Given the description of an element on the screen output the (x, y) to click on. 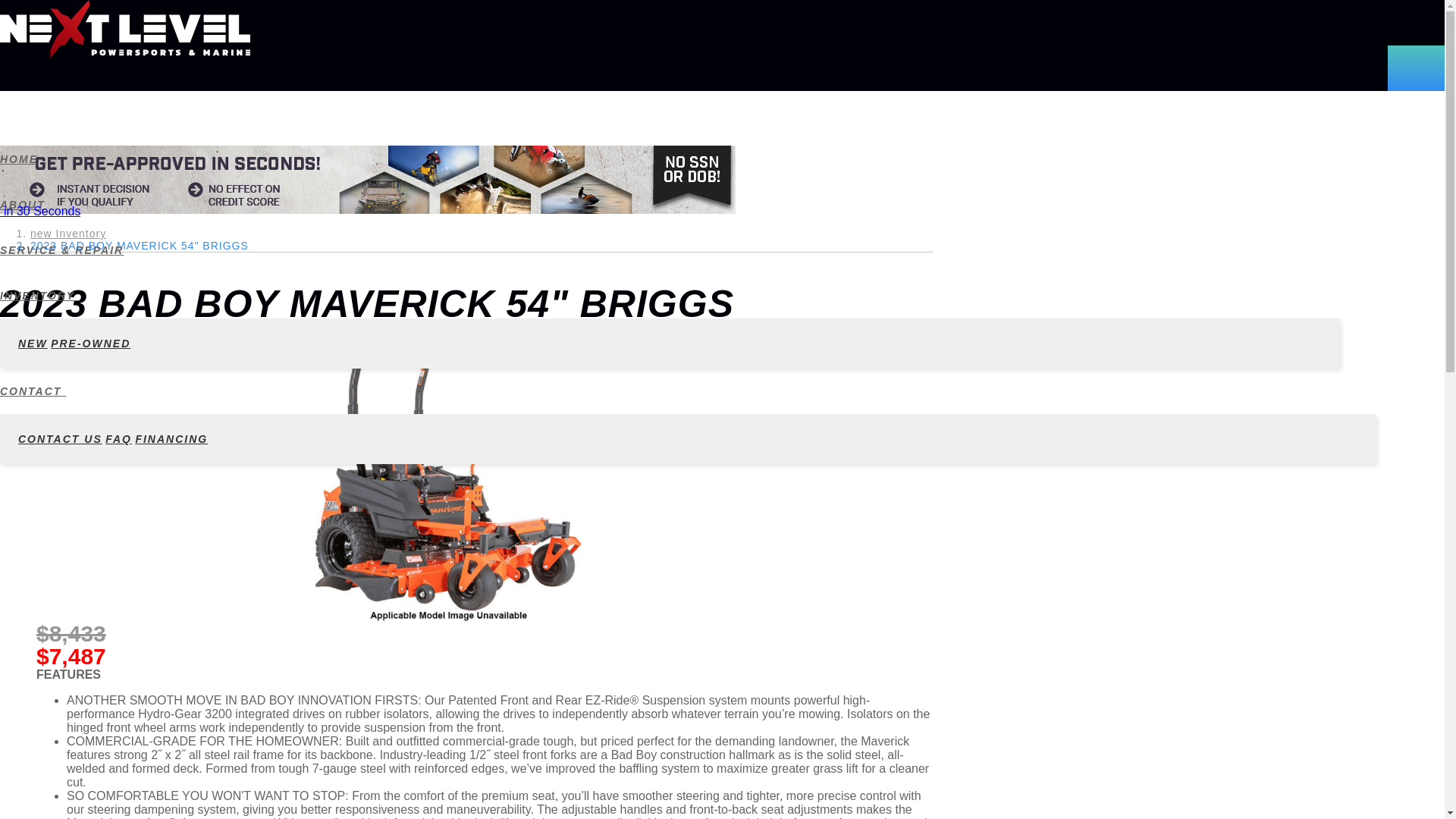
new Inventory (68, 233)
ABOUT (669, 204)
CONTACT (687, 391)
HOME (669, 158)
CONTACT US (59, 438)
INVENTORY (669, 295)
NEW (32, 343)
FINANCING (171, 438)
PRE-OWNED (90, 343)
FAQ (118, 438)
